Given the description of an element on the screen output the (x, y) to click on. 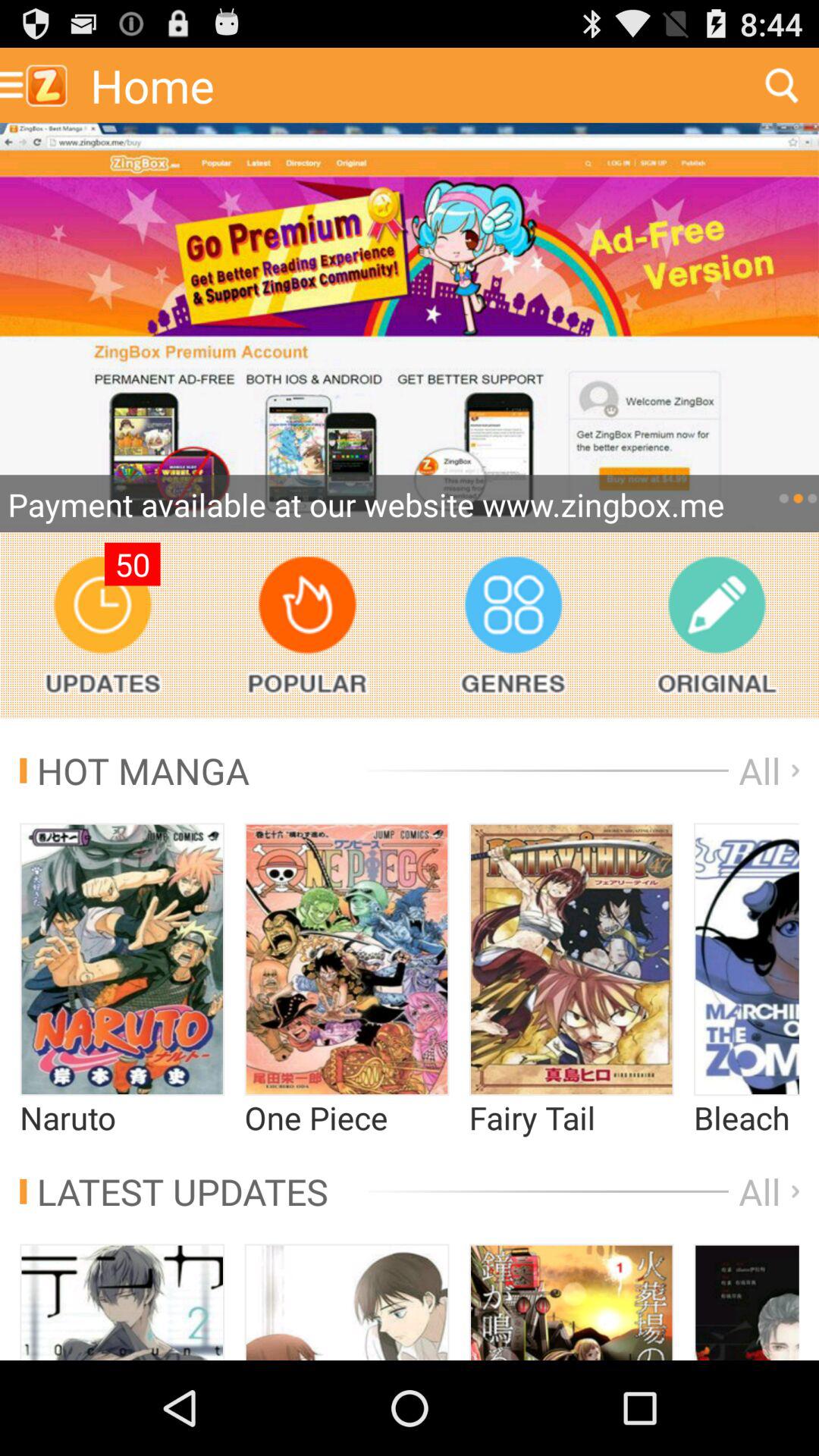
select book (746, 1301)
